Given the description of an element on the screen output the (x, y) to click on. 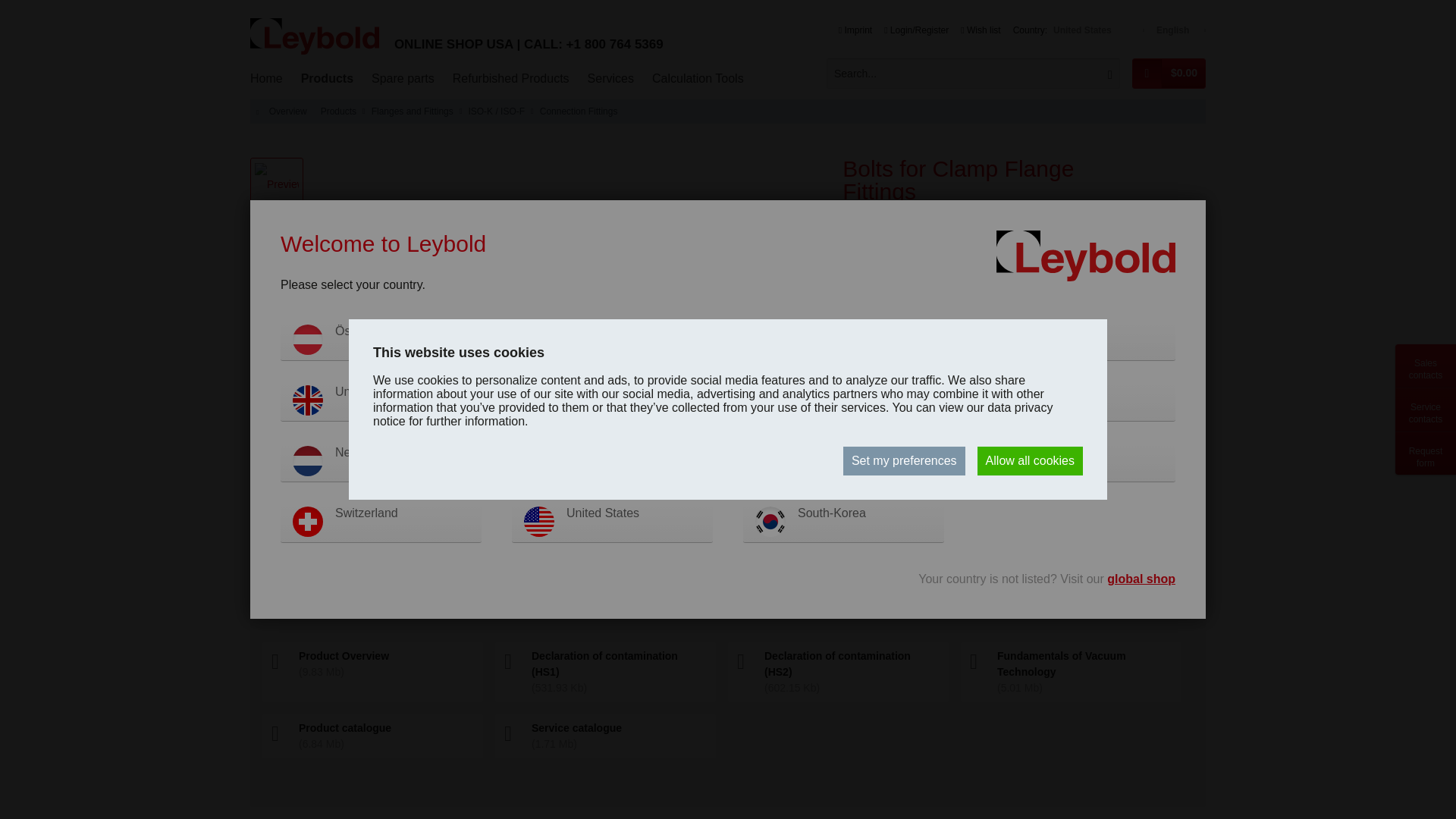
Refurbished Products (511, 78)
Allow all cookies (1029, 460)
Services (610, 78)
Calculation Tools (697, 78)
Spare parts (403, 78)
Products (327, 78)
Home (266, 78)
Set my preferences (904, 460)
